Given the description of an element on the screen output the (x, y) to click on. 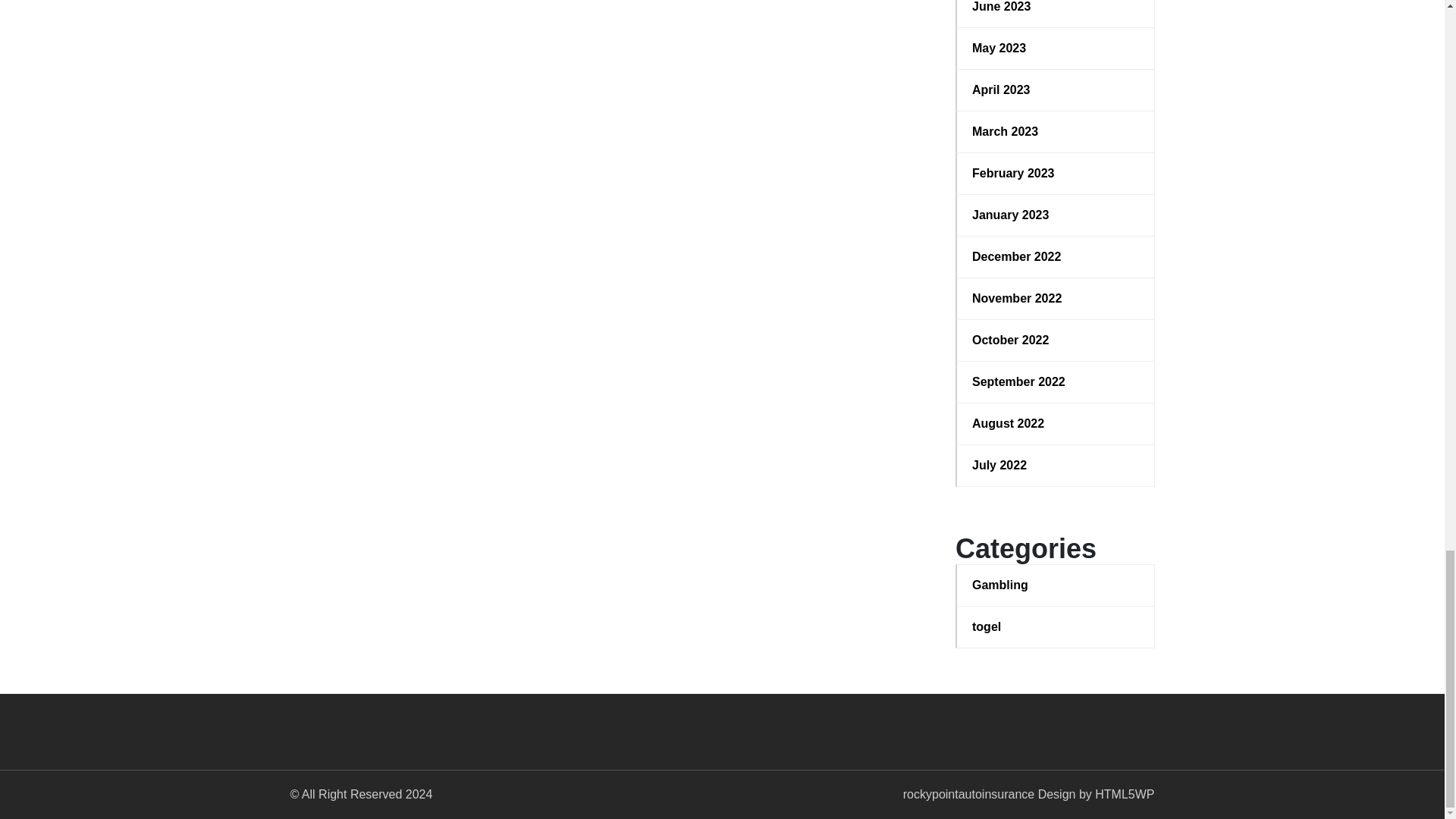
January 2023 (1055, 215)
September 2022 (1055, 382)
May 2023 (1055, 48)
December 2022 (1055, 257)
October 2022 (1055, 340)
March 2023 (1055, 131)
April 2023 (1055, 90)
November 2022 (1055, 298)
February 2023 (1055, 173)
August 2022 (1055, 423)
June 2023 (1055, 7)
